Given the description of an element on the screen output the (x, y) to click on. 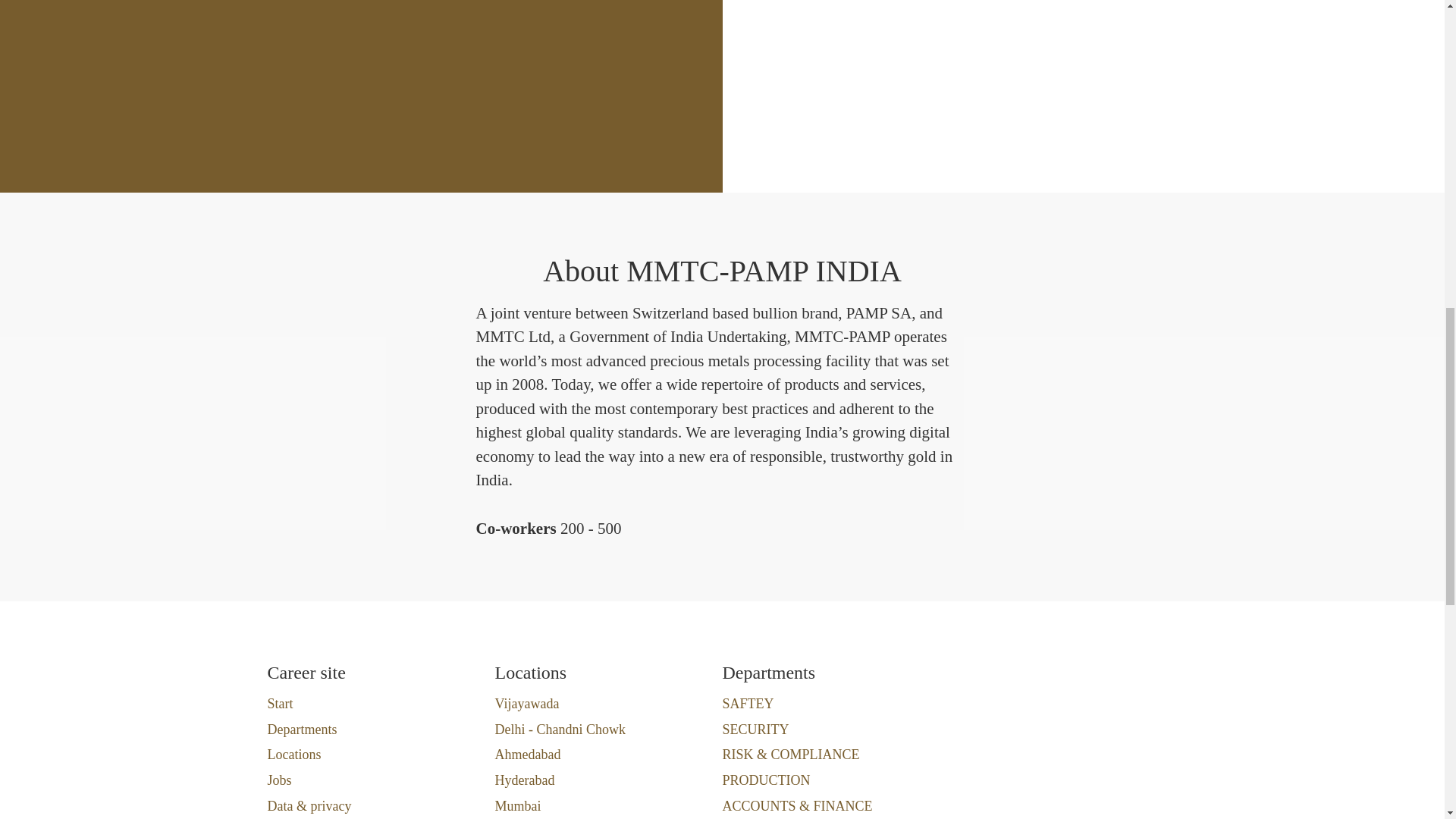
Locations (293, 753)
Ahmedabad (527, 753)
SAFTEY (747, 703)
Jobs (278, 780)
Start (279, 703)
SECURITY (755, 729)
Delhi - Chandni Chowk (560, 729)
Vijayawada (527, 703)
Mumbai (517, 805)
Hyderabad (524, 780)
Departments (301, 729)
